Given the description of an element on the screen output the (x, y) to click on. 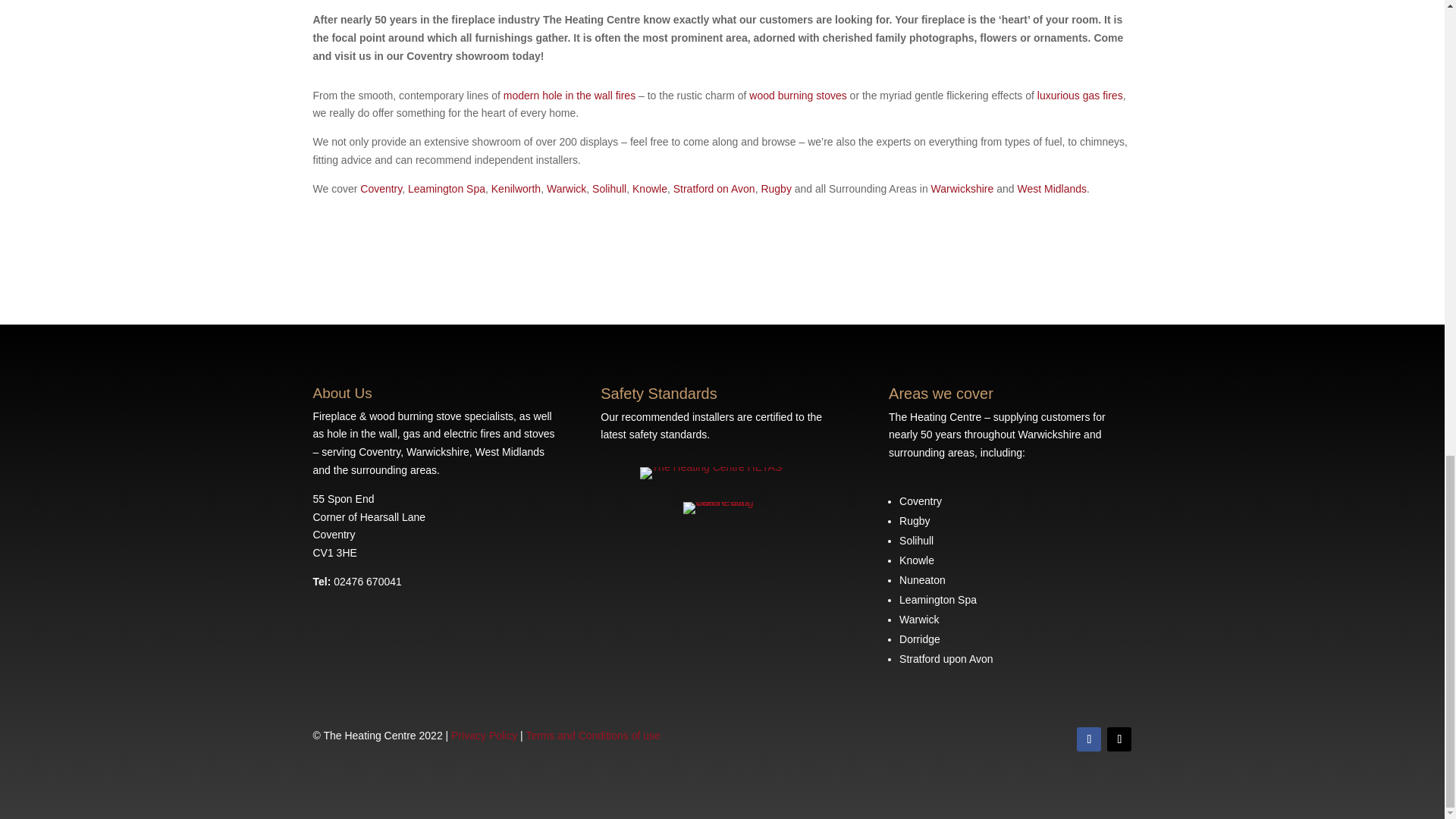
The Heating Centre HETAS (711, 472)
Choosing Us (609, 188)
Choosing Us (566, 188)
Choosing Us (445, 188)
Choosing Us (380, 188)
Choosing Us (1051, 188)
Choosing Us (775, 188)
Choosing Us (962, 188)
Choosing Us (516, 188)
Choosing Us (648, 188)
Choosing Us (713, 188)
